Given the description of an element on the screen output the (x, y) to click on. 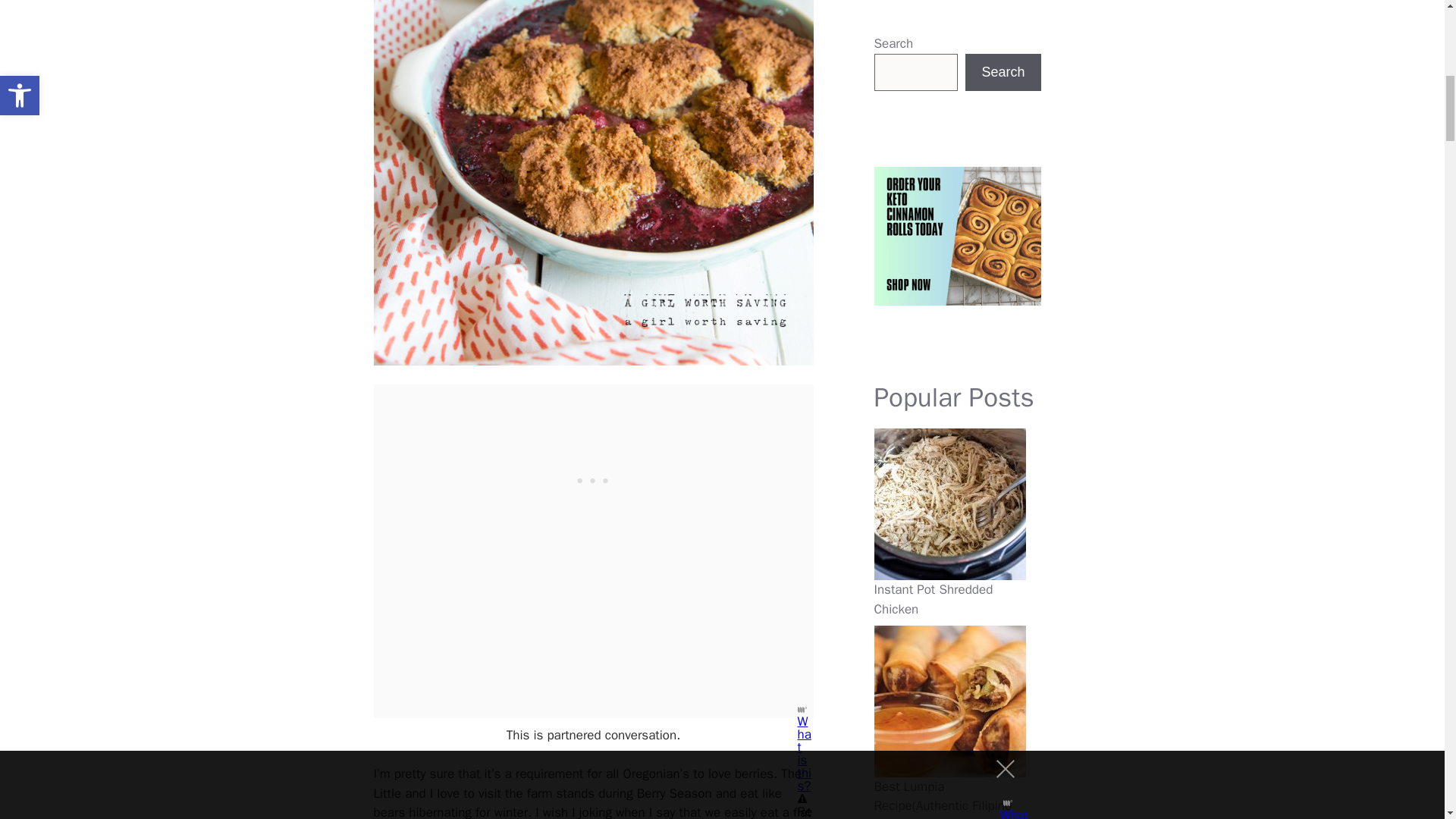
3rd party ad content (592, 479)
